Given the description of an element on the screen output the (x, y) to click on. 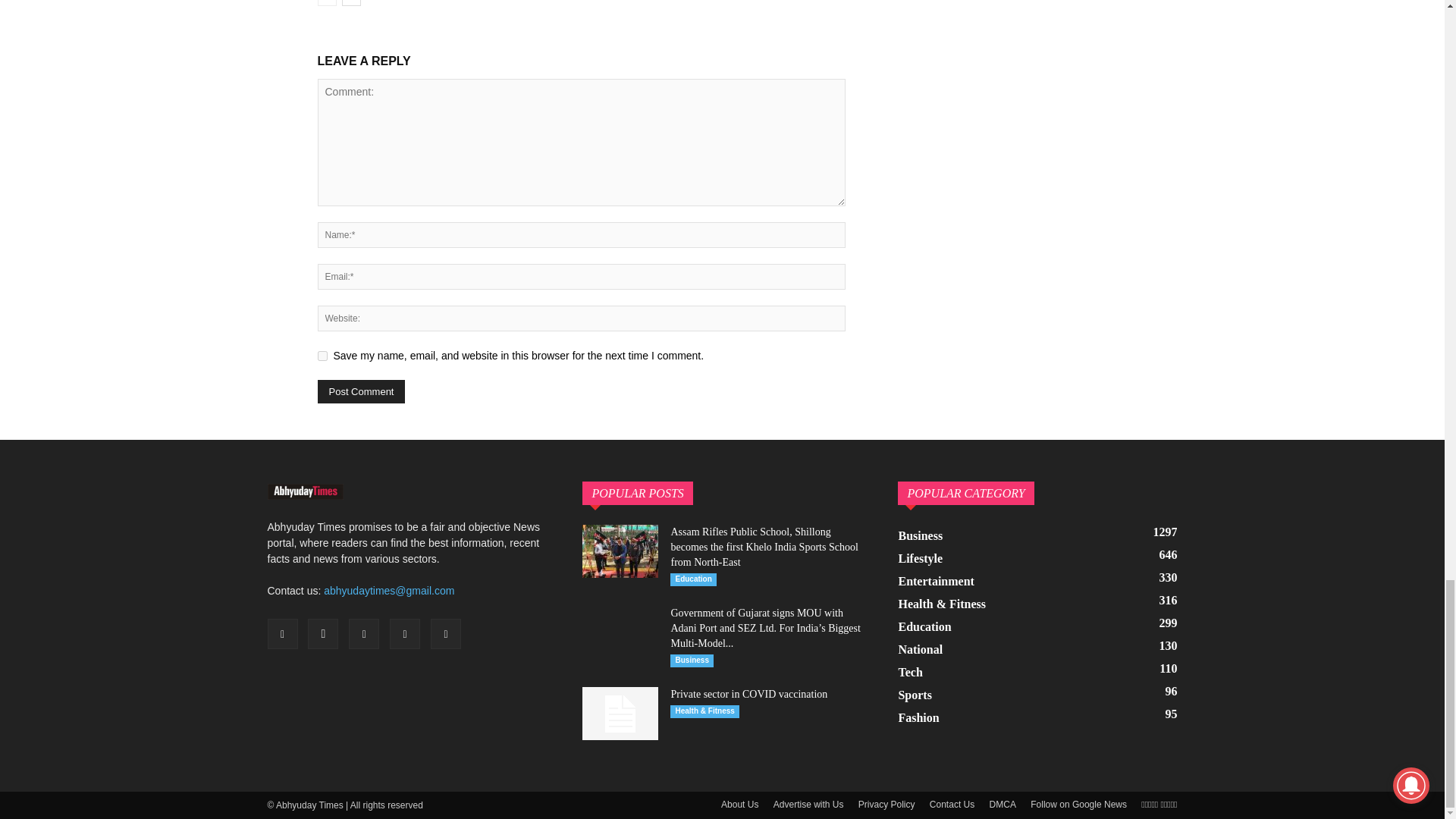
Post Comment (360, 391)
yes (321, 356)
